Given the description of an element on the screen output the (x, y) to click on. 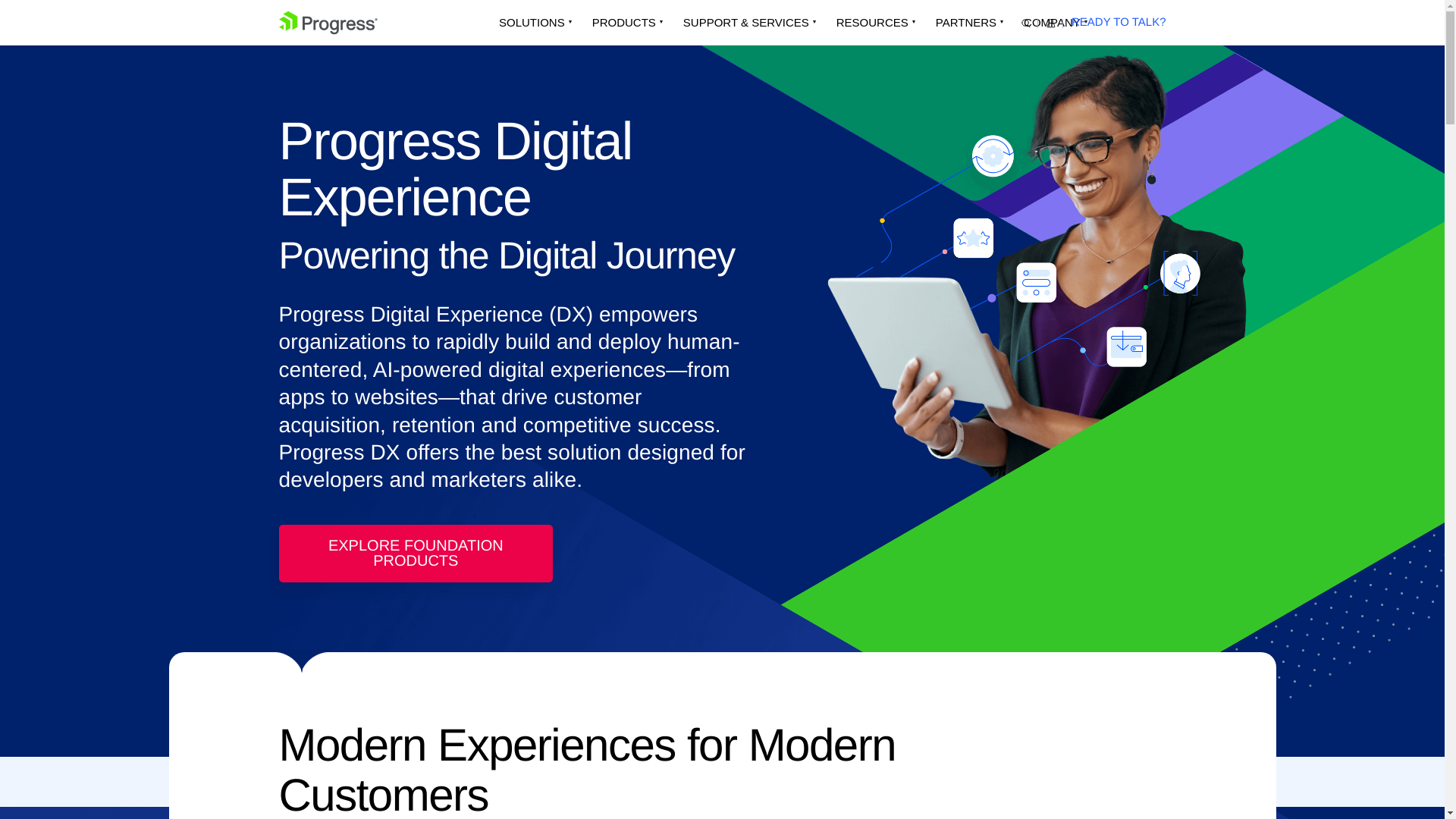
Search (1026, 22)
Progress (328, 22)
PRODUCTS (623, 22)
SKIP NAVIGATION (343, 17)
Progress (328, 22)
SOLUTIONS (531, 22)
